Given the description of an element on the screen output the (x, y) to click on. 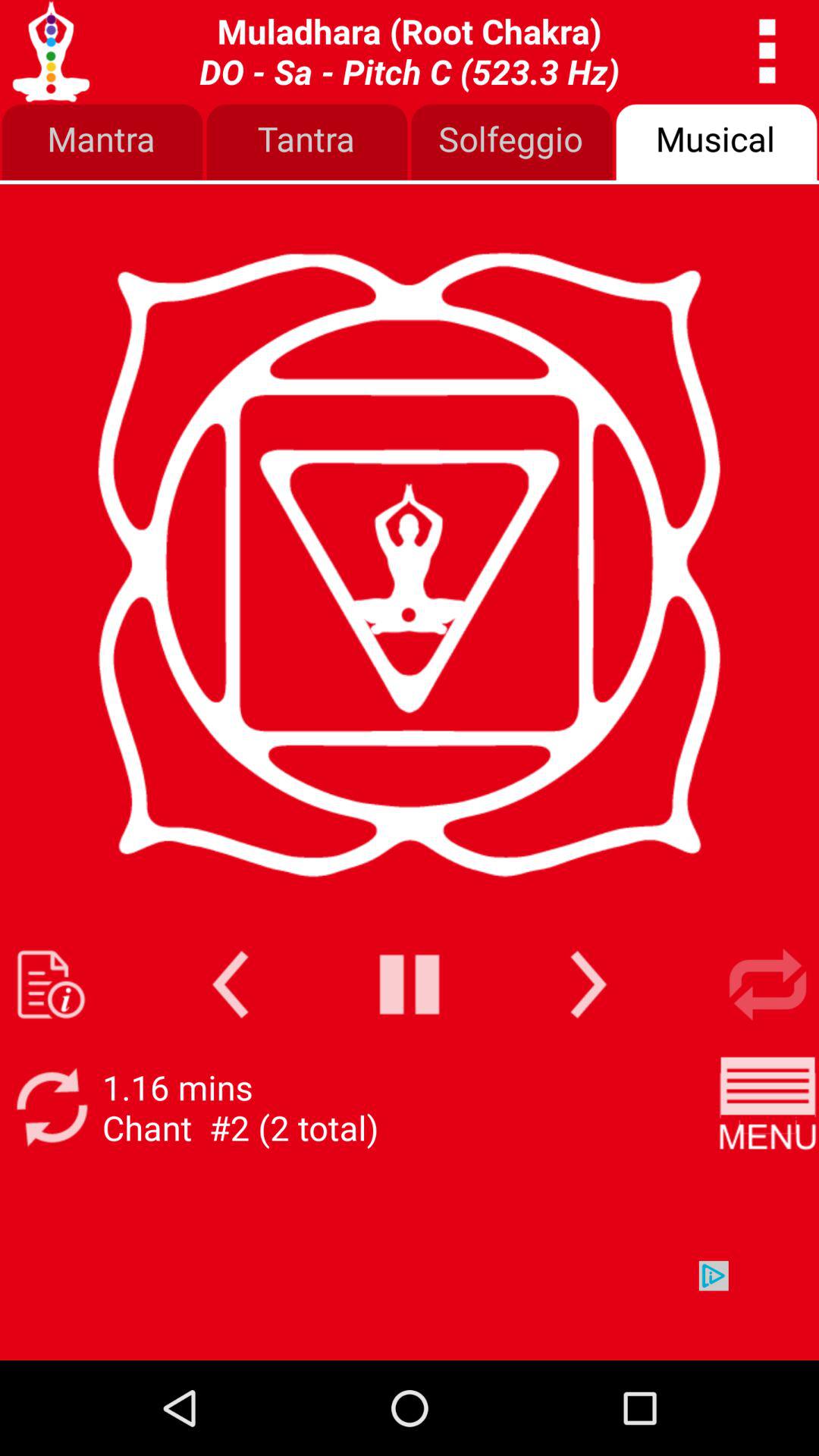
loop audio (767, 984)
